Given the description of an element on the screen output the (x, y) to click on. 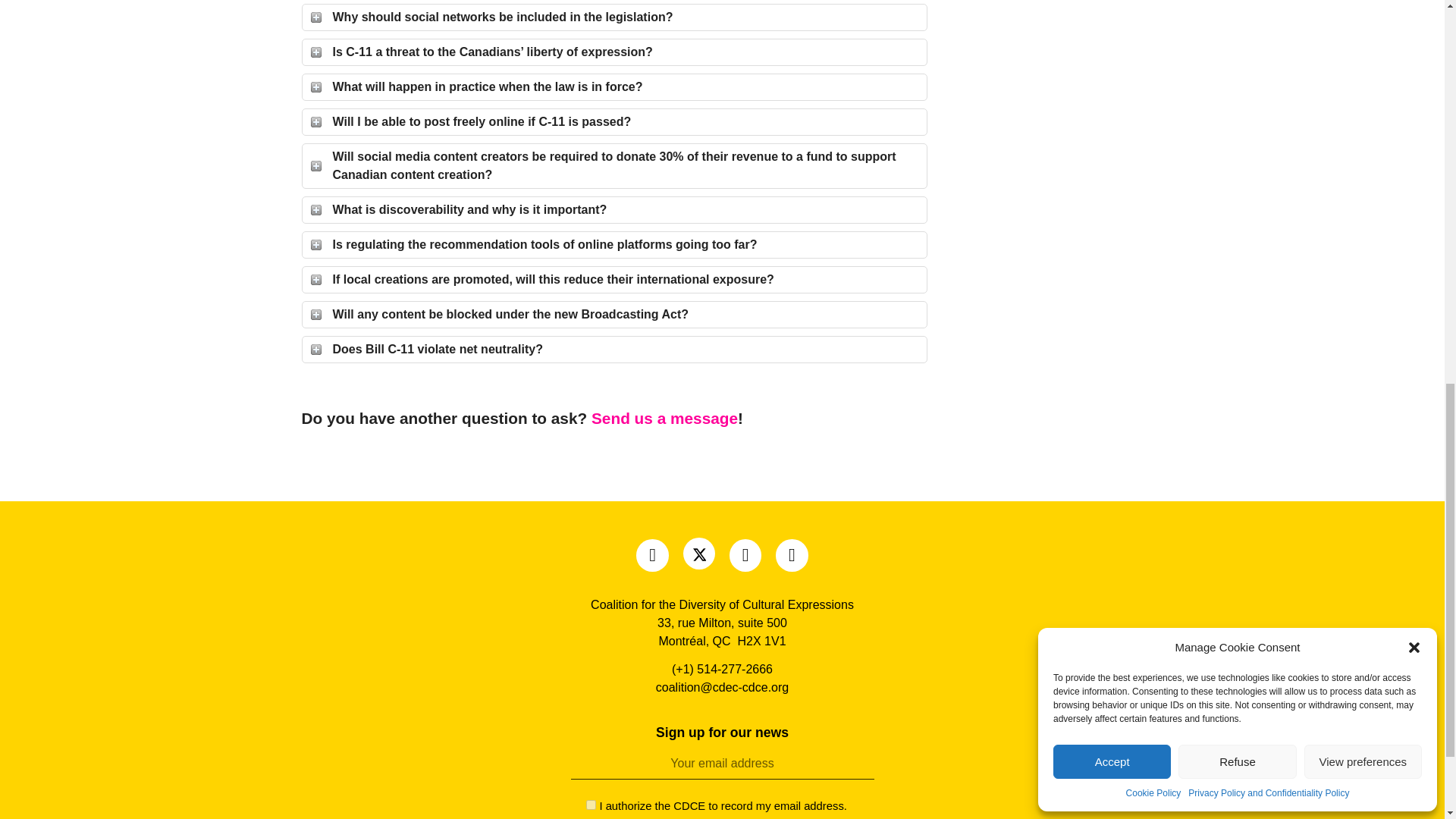
1 (590, 804)
